Given the description of an element on the screen output the (x, y) to click on. 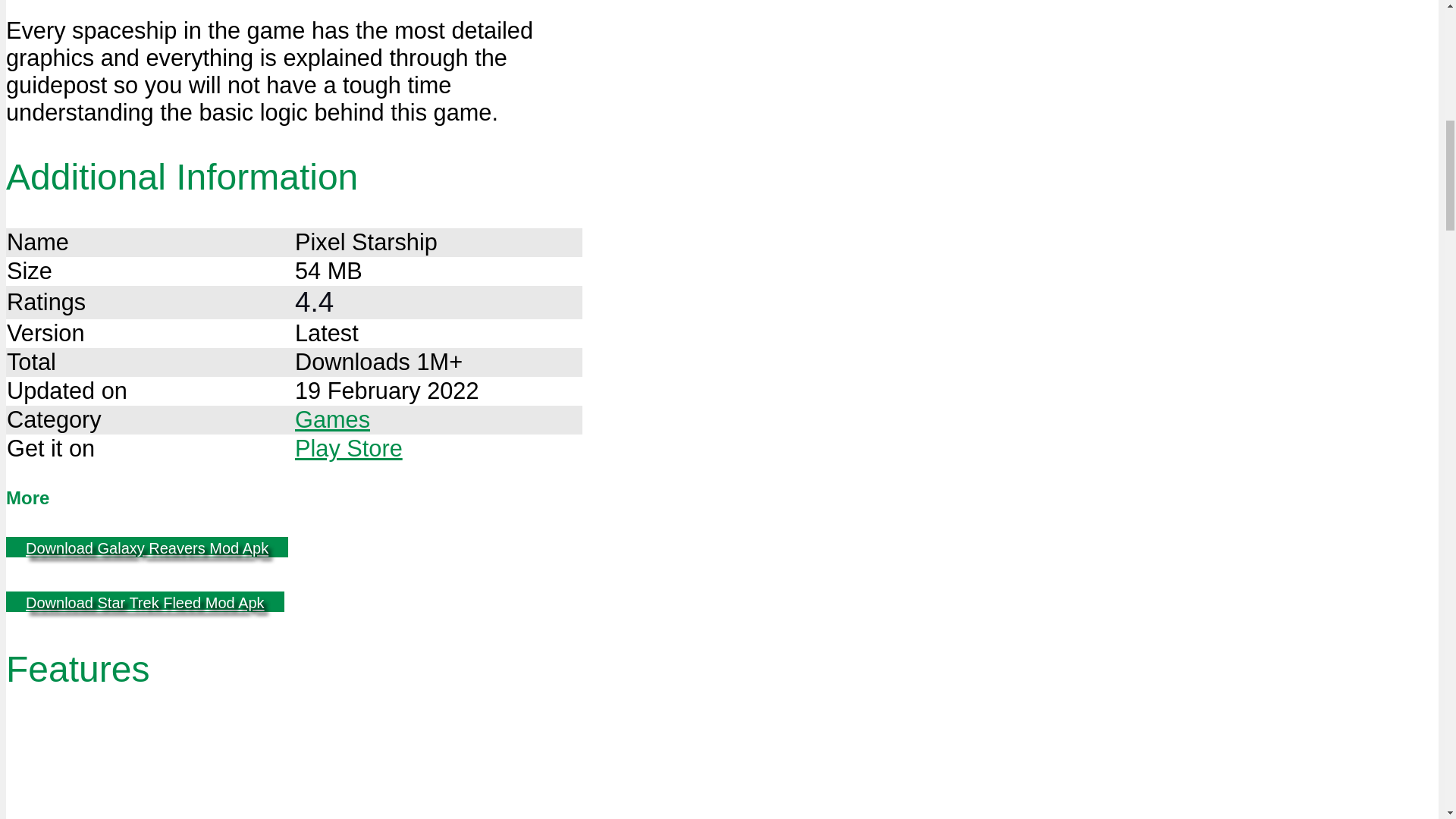
Games (332, 419)
Download Galaxy Reavers Mod Apk (146, 547)
Play Store (349, 447)
Download Star Trek Fleed Mod Apk (144, 601)
